Given the description of an element on the screen output the (x, y) to click on. 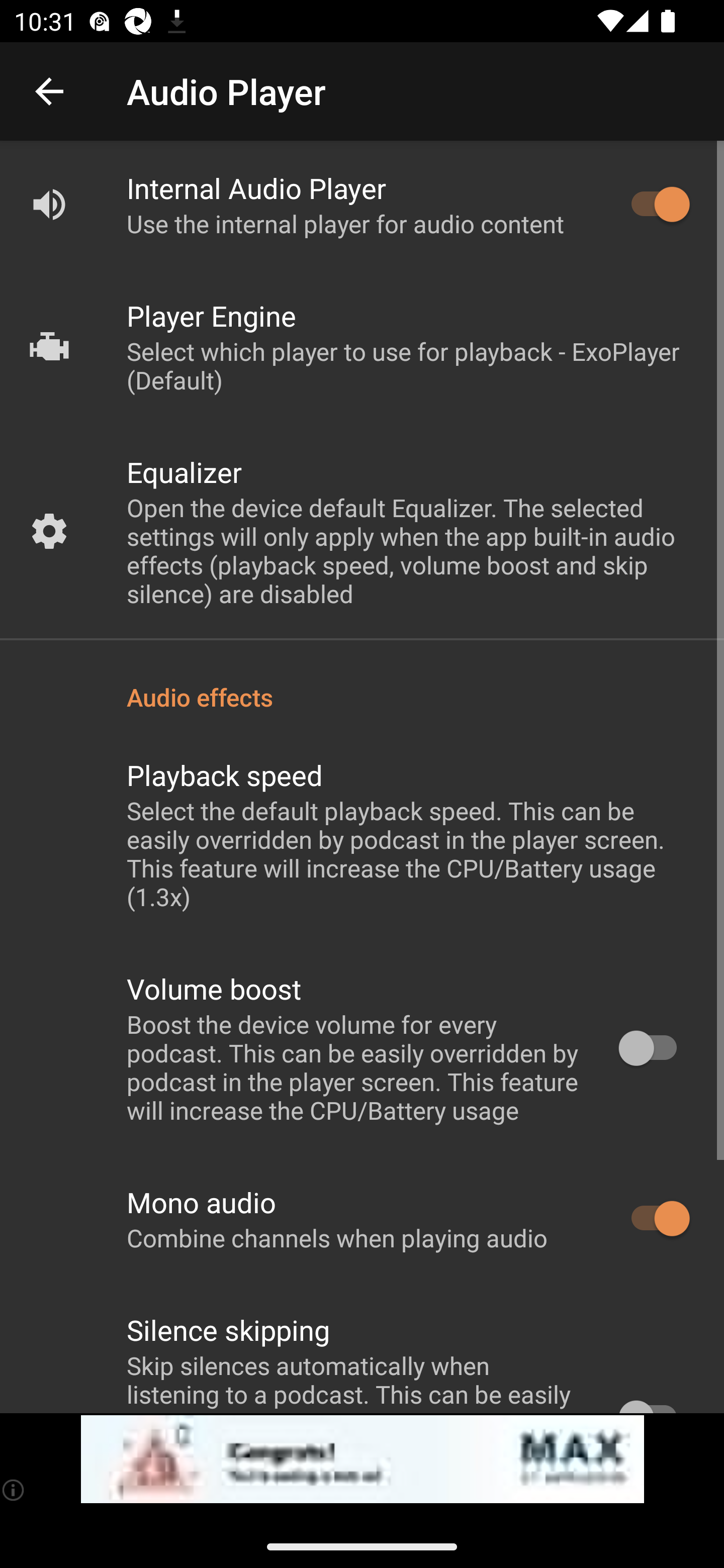
Navigate up (49, 91)
Mono audio Combine channels when playing audio (362, 1218)
app-monetization (362, 1459)
(i) (14, 1489)
